Given the description of an element on the screen output the (x, y) to click on. 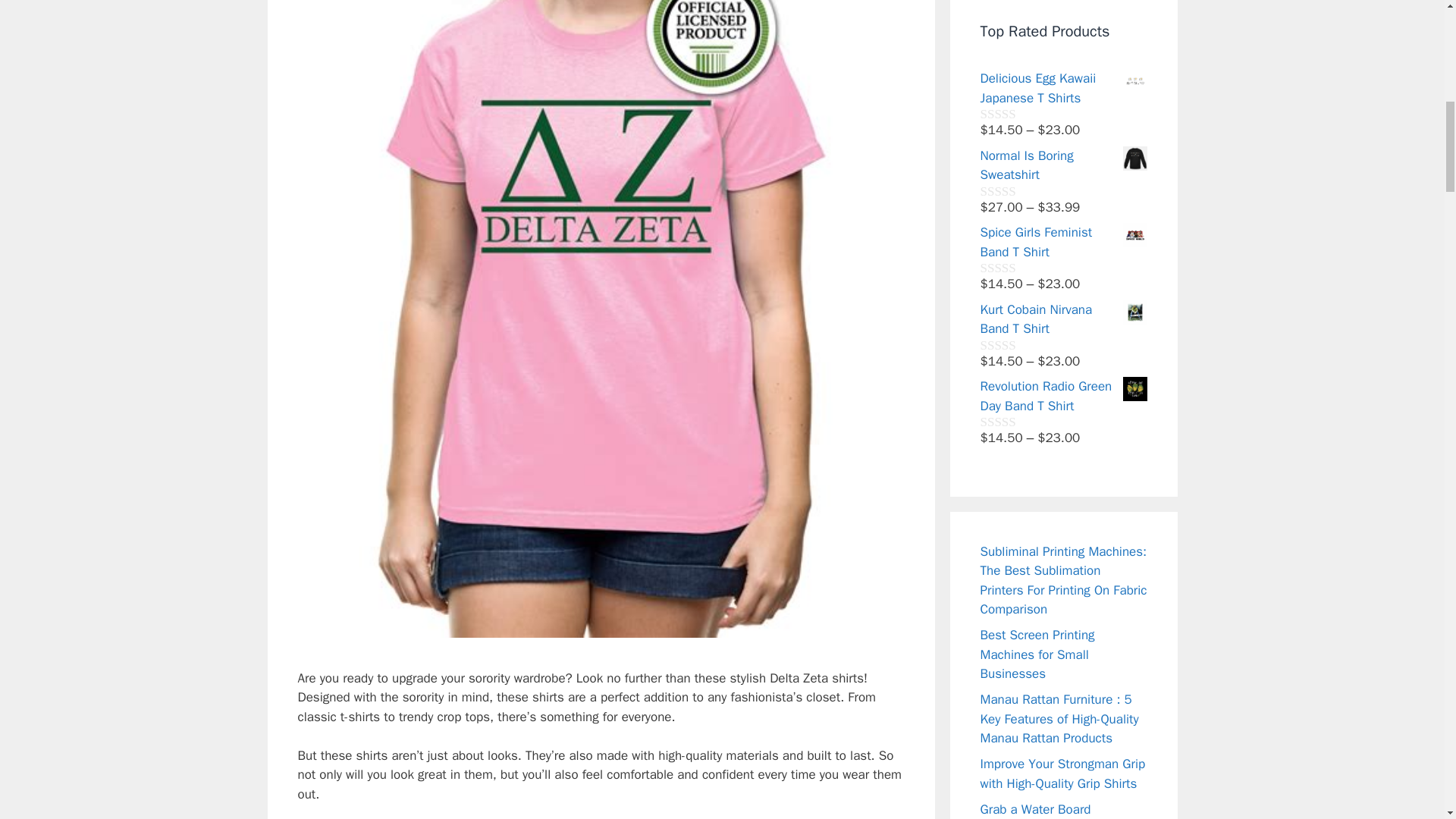
Best Screen Printing Machines for Small Businesses (1036, 654)
Improve Your Strongman Grip with High-Quality Grip Shirts (1061, 773)
Delicious Egg Kawaii Japanese T Shirts (1063, 87)
Normal Is Boring Sweatshirt (1063, 164)
Not yet rated (1014, 113)
Not yet rated (1014, 191)
Not yet rated (1014, 344)
Revolution Radio Green Day Band T Shirt (1063, 395)
Kurt Cobain Nirvana Band T Shirt (1063, 319)
Spice Girls Feminist Band T Shirt (1063, 241)
Not yet rated (1014, 267)
Scroll back to top (1406, 720)
